Given the description of an element on the screen output the (x, y) to click on. 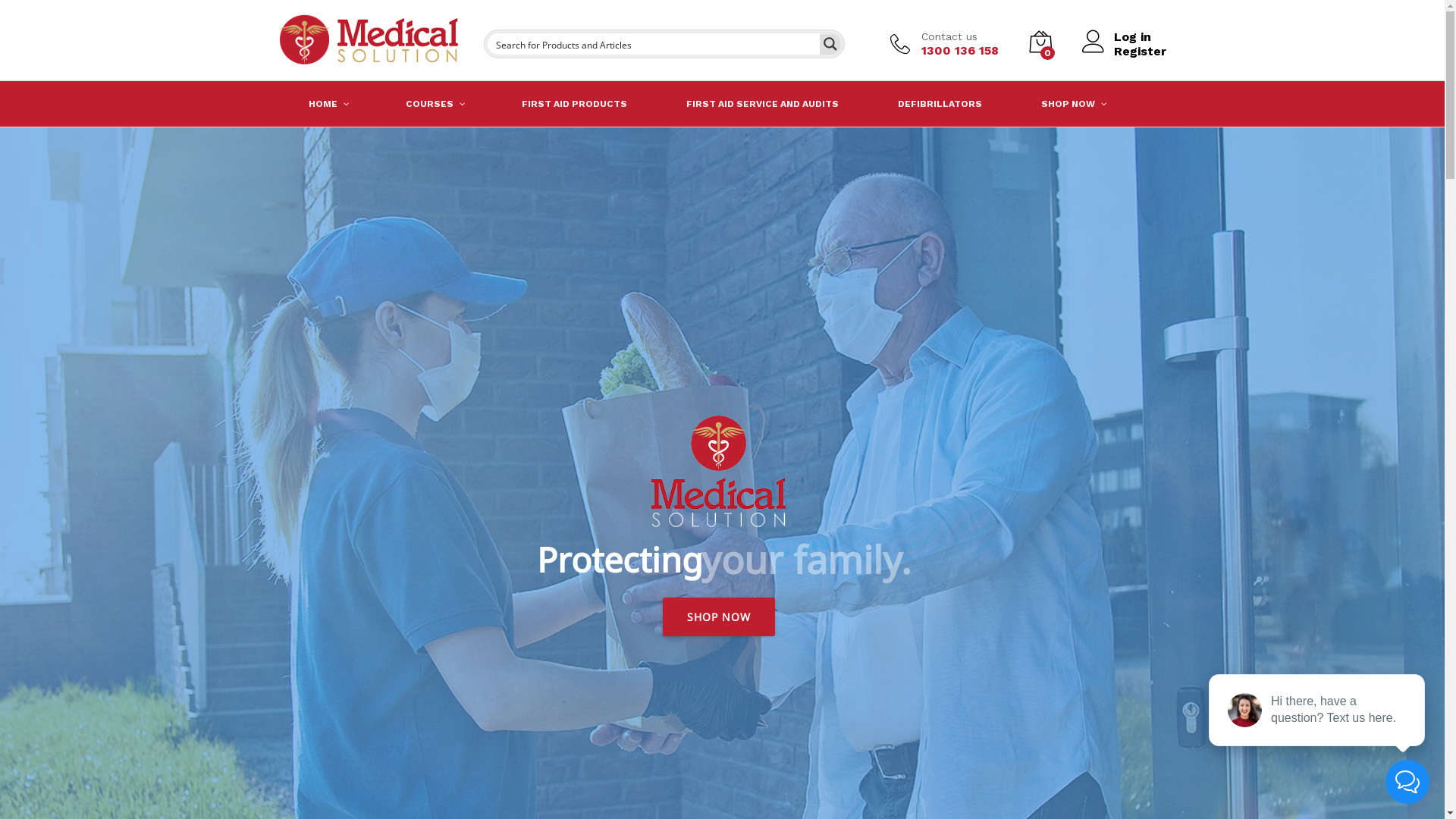
FIRST AID SERVICE AND AUDITS Element type: text (762, 103)
Register Element type: text (1123, 50)
DEFIBRILLATORS Element type: text (938, 103)
Home 3 Element type: hover (718, 471)
SHOP NOW Element type: text (1072, 103)
0 Element type: text (1039, 43)
COURSES Element type: text (433, 103)
SHOP NOW Element type: text (718, 616)
Log in Element type: text (1123, 36)
FIRST AID PRODUCTS Element type: text (573, 103)
HOME Element type: text (327, 103)
